Given the description of an element on the screen output the (x, y) to click on. 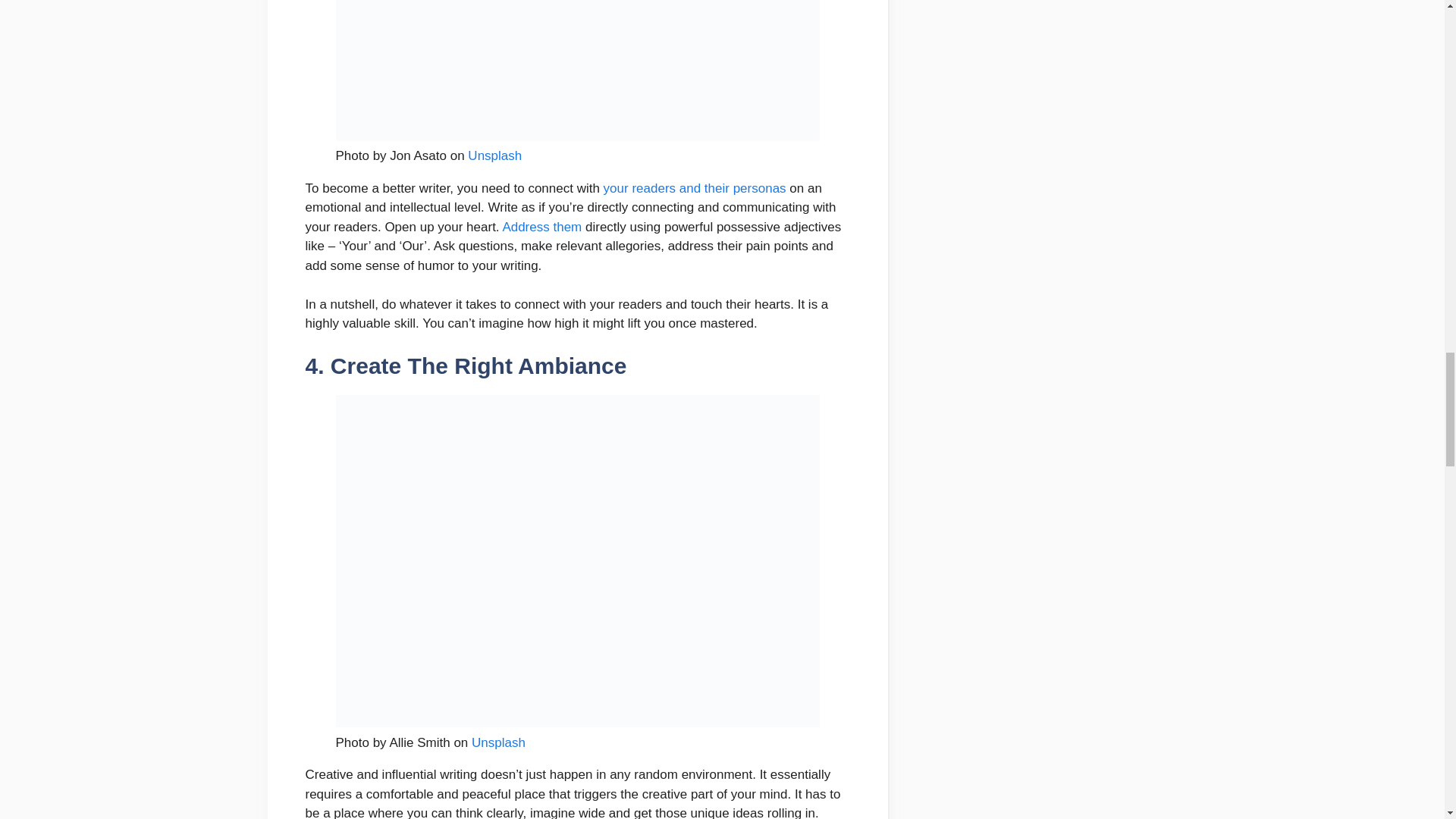
Address them (541, 227)
Unsplash (494, 155)
Unsplash (498, 742)
your readers and their personas (697, 187)
